Given the description of an element on the screen output the (x, y) to click on. 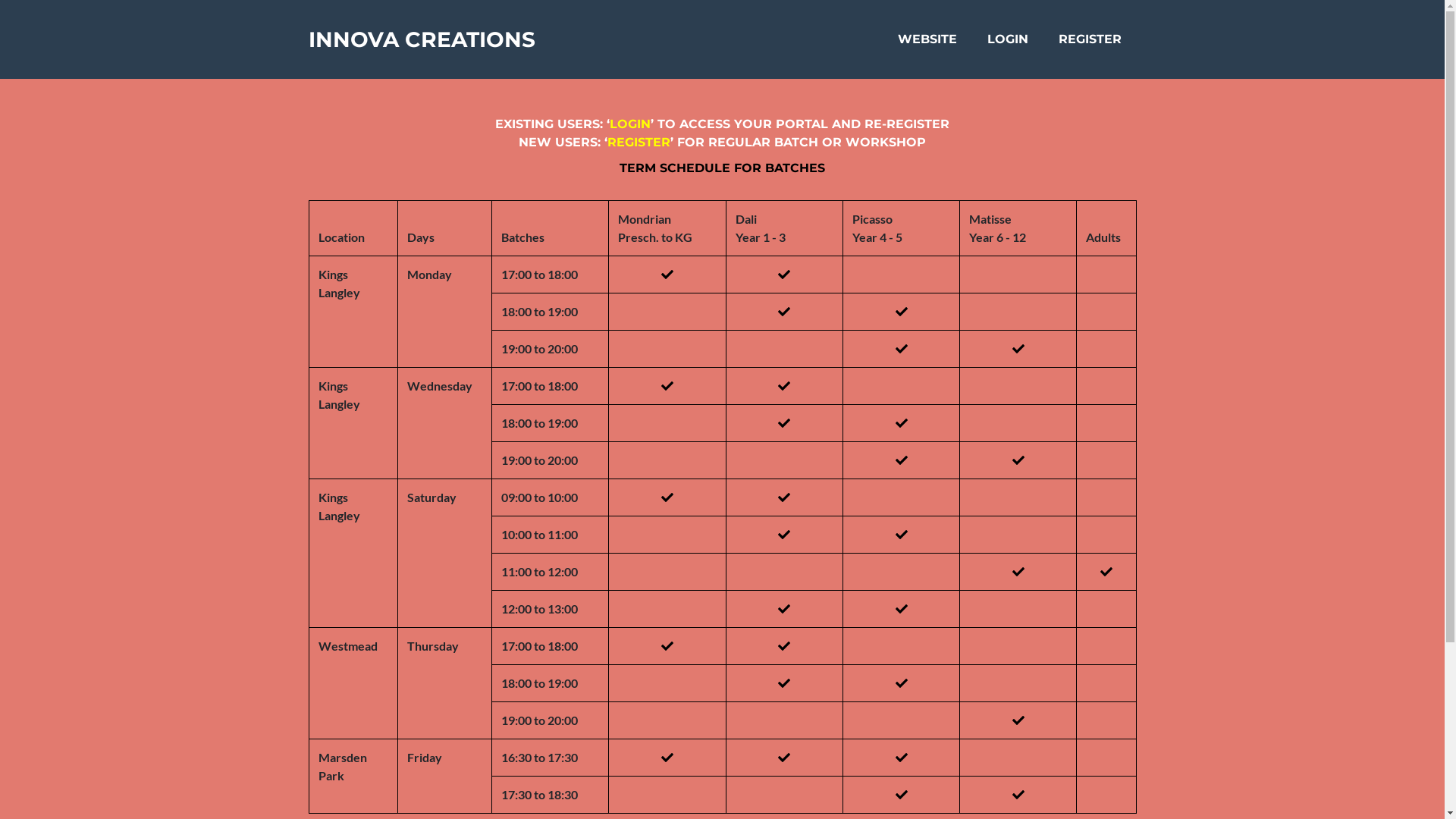
INNOVA CREATIONS Element type: text (420, 39)
REGISTER Element type: text (638, 141)
REGISTER Element type: text (1089, 39)
LOGIN Element type: text (1007, 39)
LOGIN Element type: text (629, 123)
WEBSITE Element type: text (927, 39)
